Given the description of an element on the screen output the (x, y) to click on. 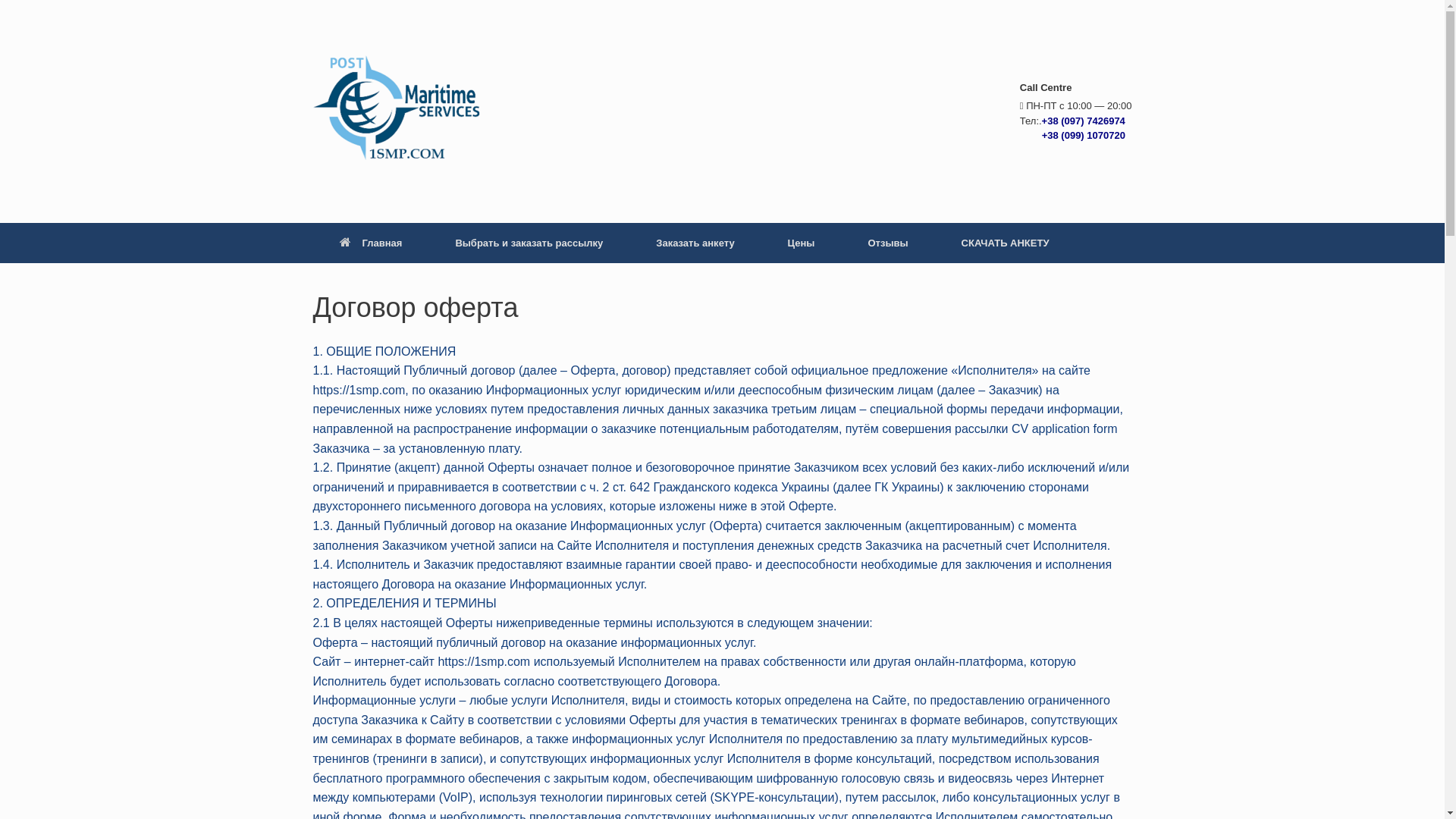
+38 (097) 7426974 Element type: text (1083, 120)
        +38 (099) 1070720 Element type: text (1072, 135)
